Given the description of an element on the screen output the (x, y) to click on. 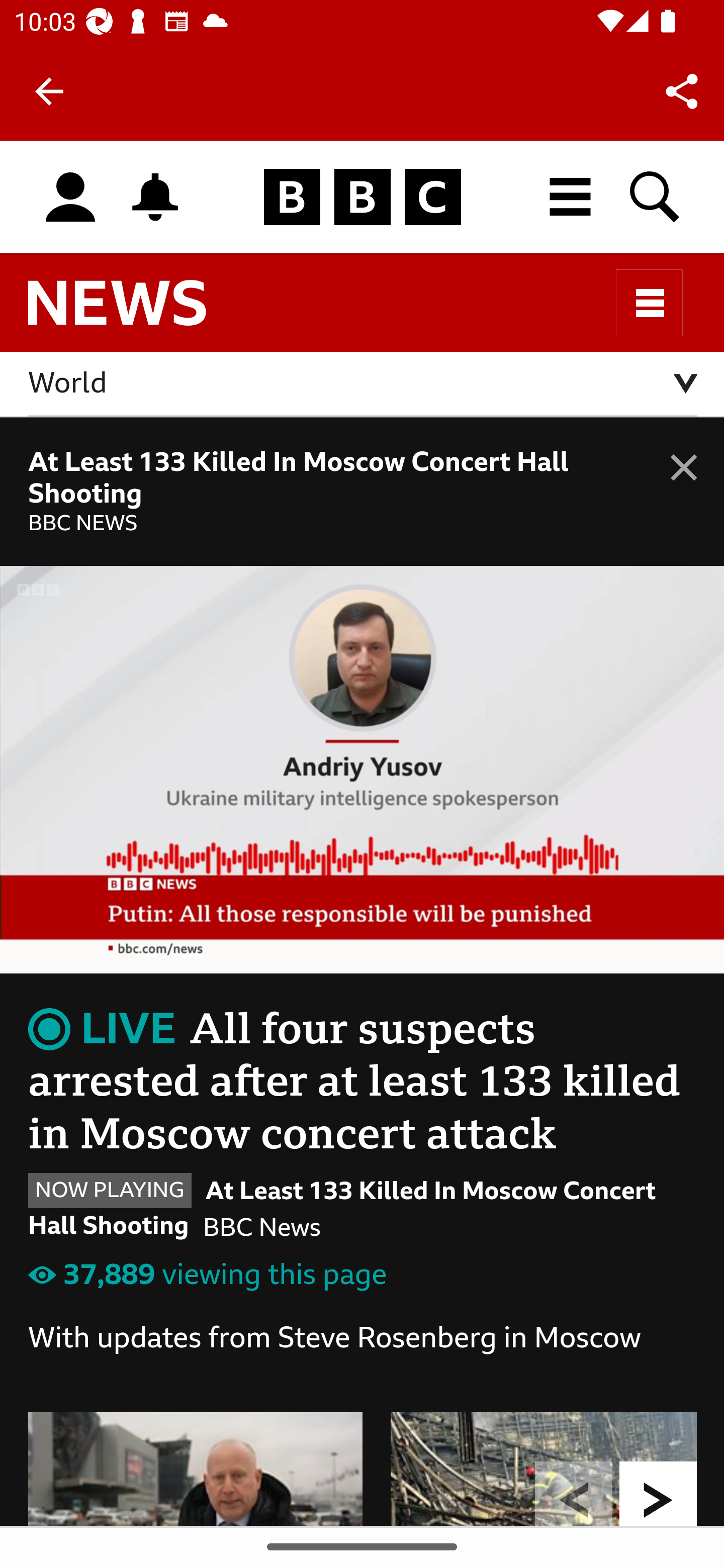
Back (49, 91)
Share (681, 90)
Notifications (155, 197)
All BBC destinations menu (570, 197)
Search BBC (655, 197)
Sign in (70, 198)
Homepage (361, 198)
Sections (650, 302)
BBC News (133, 310)
World (363, 384)
previous (574, 1493)
next (658, 1493)
